Given the description of an element on the screen output the (x, y) to click on. 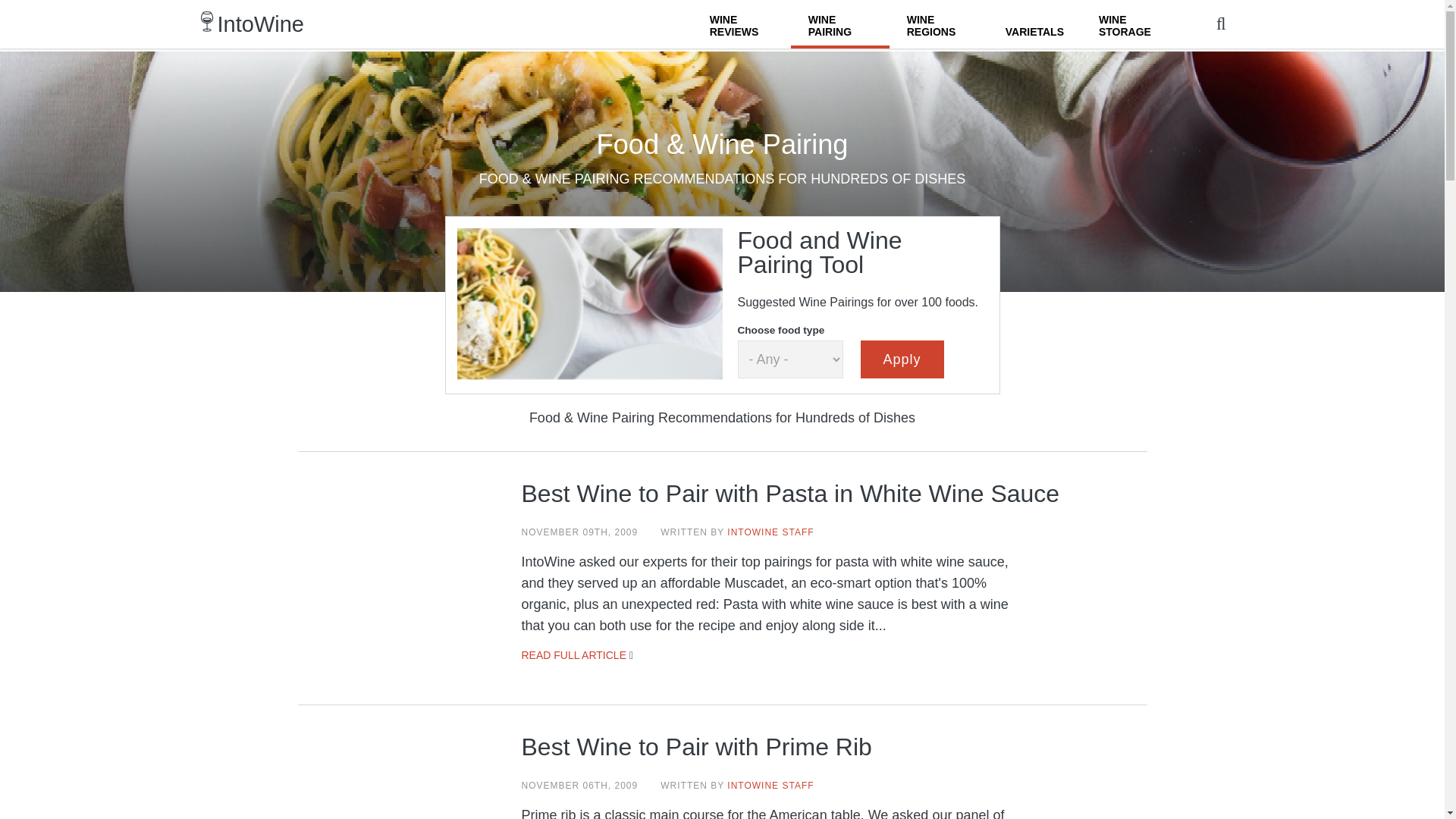
Apply (901, 359)
Best Wine to Pair with Prime Rib (696, 746)
INTOWINE STAFF (769, 531)
Home (260, 24)
Best Wine to Pair with Pasta in White Wine Sauce (790, 492)
Wine Storage (1130, 24)
VARIETALS (1034, 24)
Wine Pairing (839, 24)
WINE REGIONS (938, 24)
Apply (901, 359)
